Given the description of an element on the screen output the (x, y) to click on. 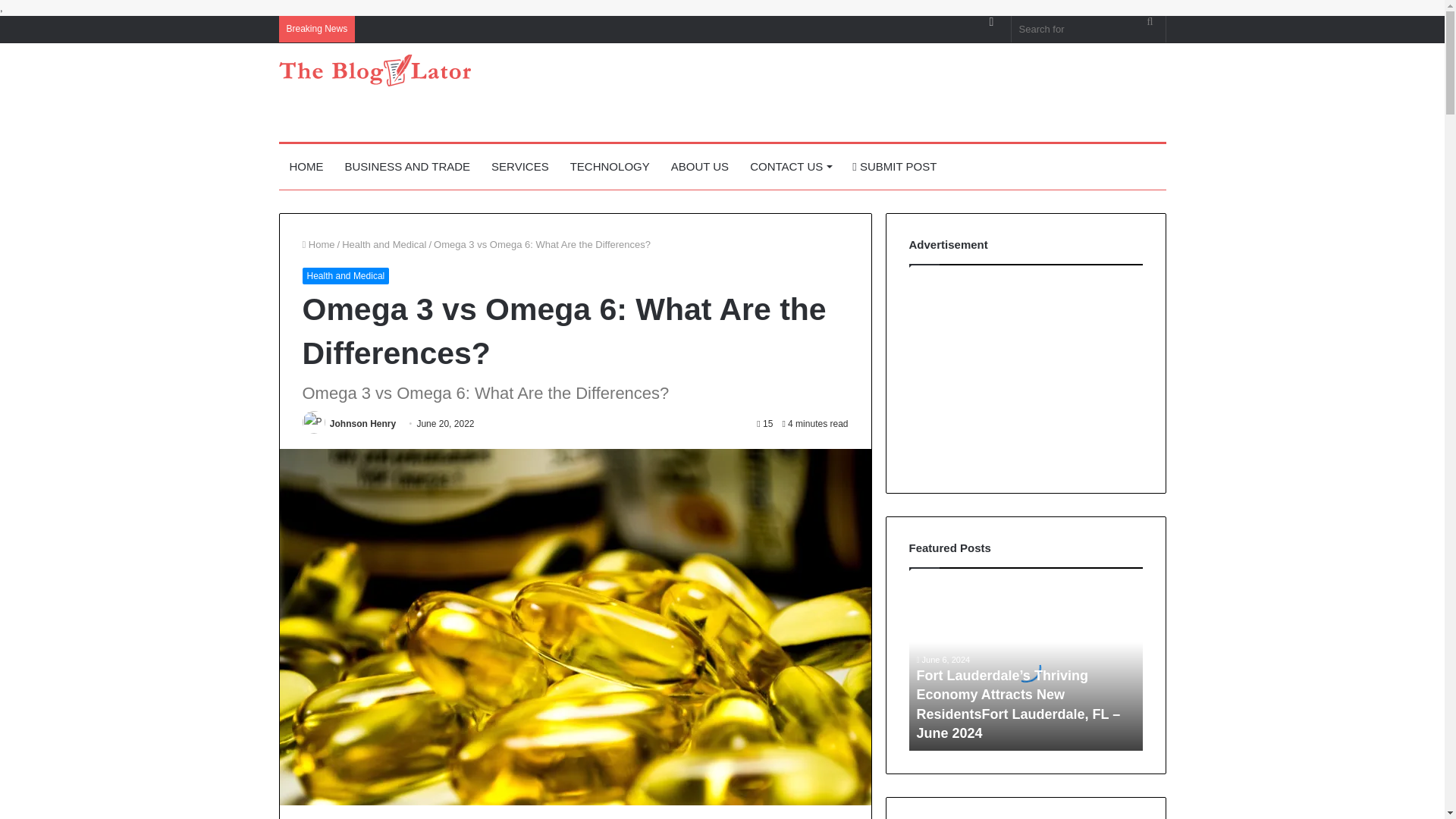
Advertisement (873, 92)
Health and Medical (344, 275)
TECHNOLOGY (610, 166)
HOME (306, 166)
Search for (1149, 21)
CONTACT US (790, 166)
BUSINESS AND TRADE (406, 166)
SERVICES (519, 166)
Home (317, 244)
Johnson Henry (363, 423)
Health and Medical (384, 244)
Search for (1088, 28)
Random Article (991, 21)
Johnson Henry (363, 423)
SUBMIT POST (894, 166)
